Given the description of an element on the screen output the (x, y) to click on. 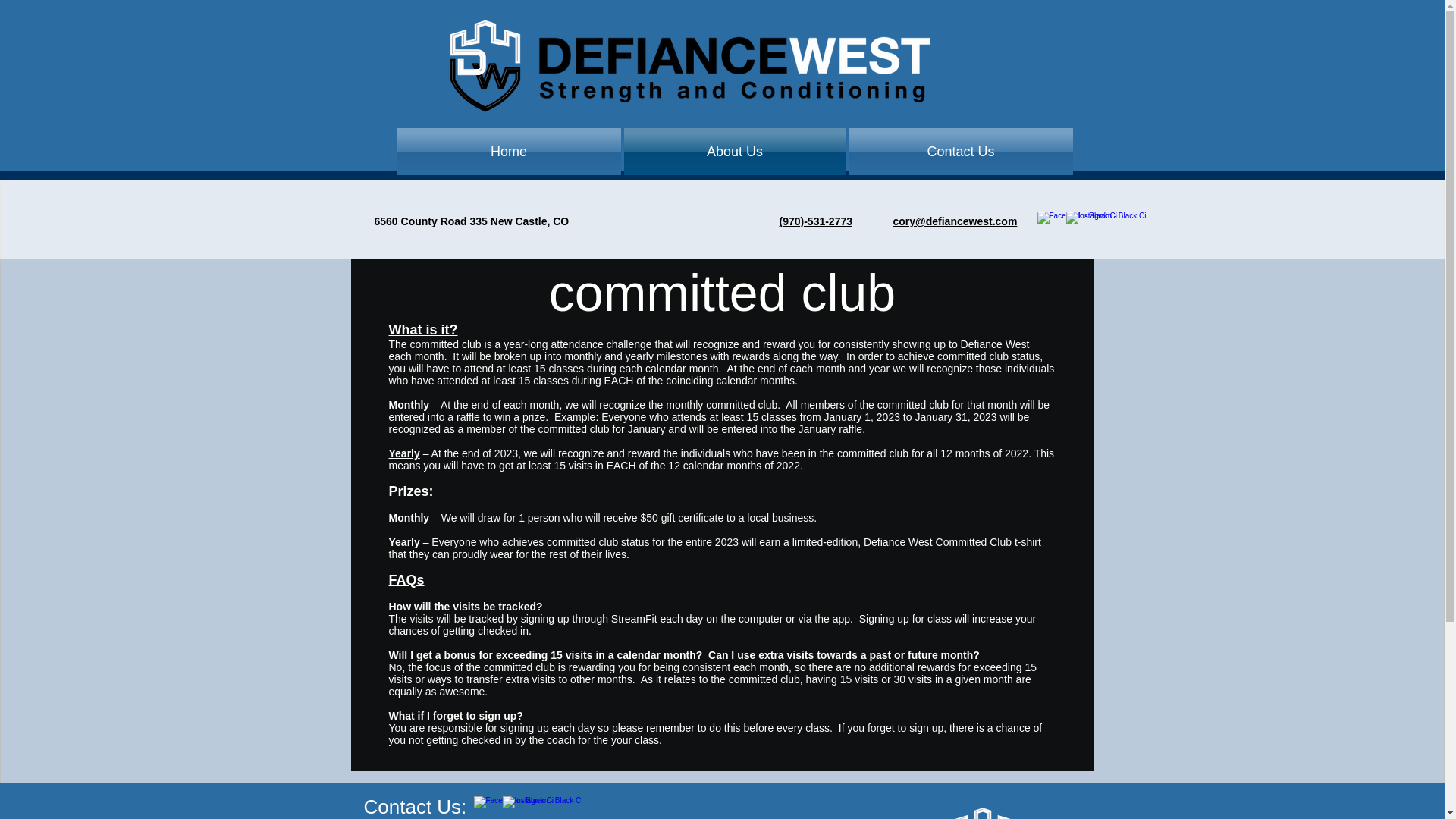
6560 (385, 221)
Contact Us (960, 151)
Home (510, 151)
About Us (734, 151)
